Given the description of an element on the screen output the (x, y) to click on. 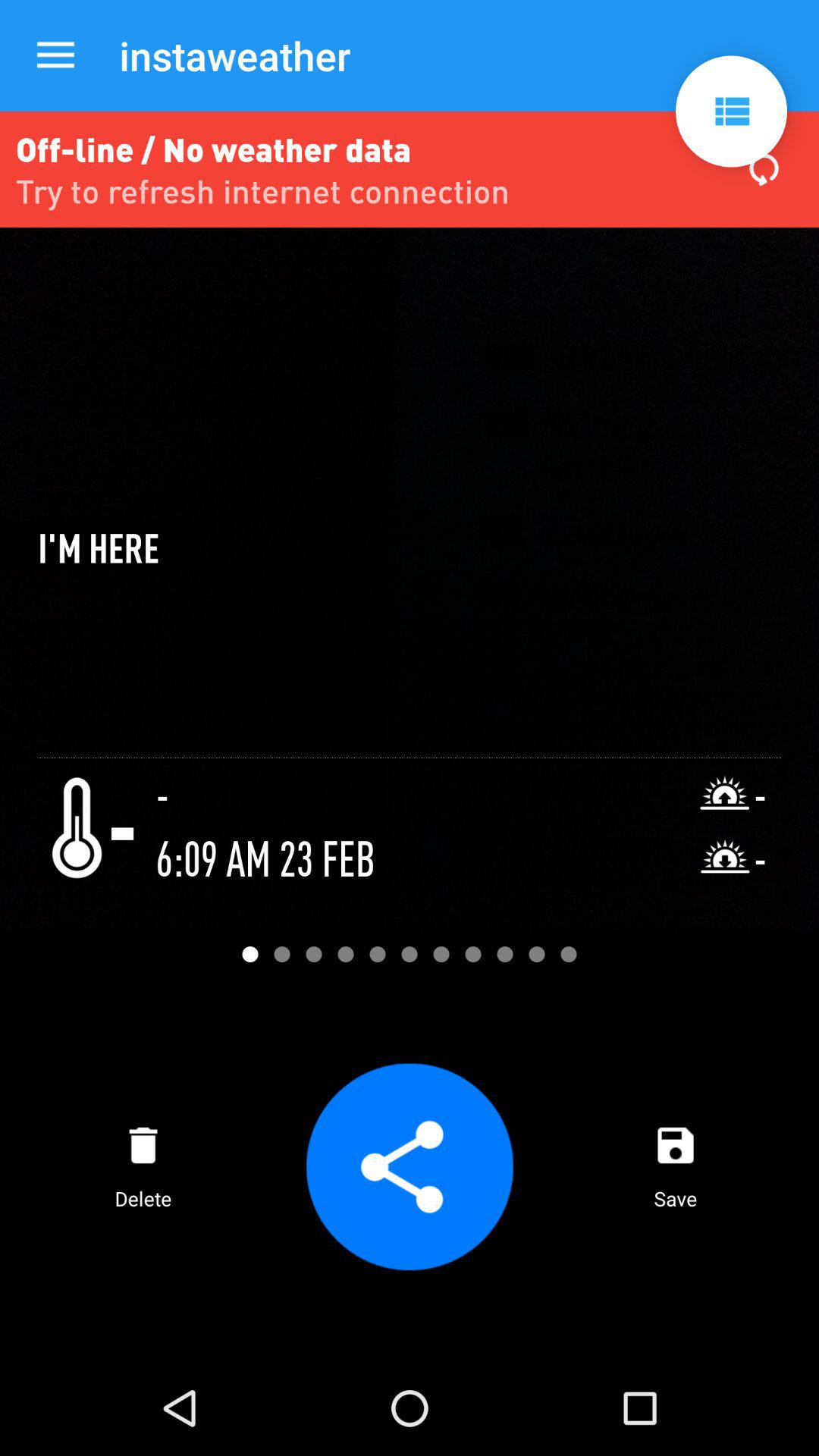
jump to delete (143, 1166)
